Given the description of an element on the screen output the (x, y) to click on. 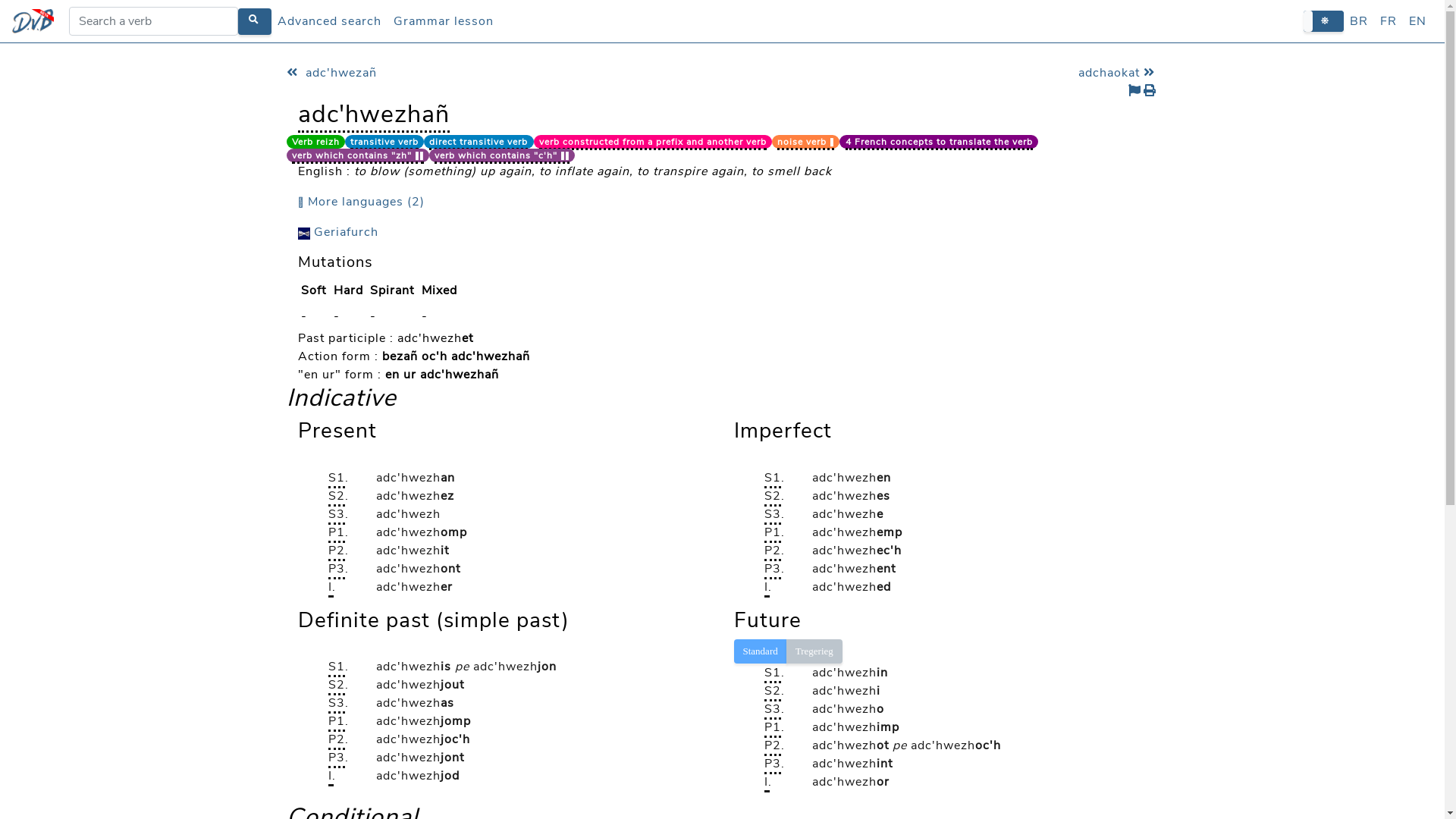
Report an error Element type: hover (1135, 91)
EN Element type: text (1417, 21)
Verb reizh Element type: text (315, 141)
adchaokat Element type: text (1118, 72)
Advanced search Element type: text (329, 21)
Tregerieg Element type: text (814, 651)
verb constructed from a prefix and another verb Element type: text (652, 141)
Print Element type: hover (1150, 91)
FR Element type: text (1388, 21)
transitive verb Element type: text (384, 141)
direct transitive verb Element type: text (478, 141)
Geriafurch Element type: text (337, 231)
Standard Element type: text (760, 651)
Grammar lesson Element type: text (443, 21)
4 French concepts to translate the verb Element type: text (938, 141)
BR Element type: text (1358, 21)
